Given the description of an element on the screen output the (x, y) to click on. 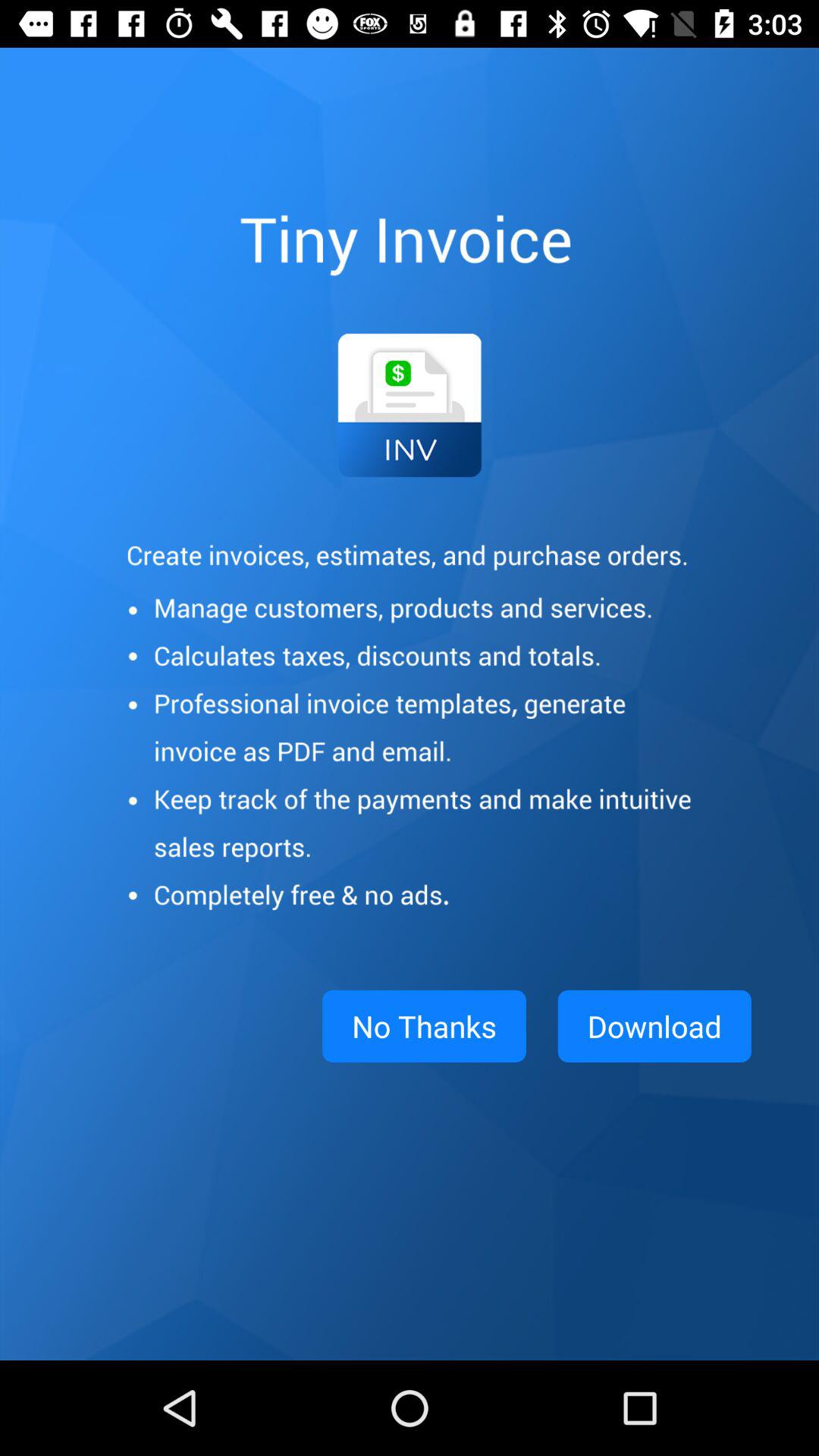
press item next to download item (424, 1026)
